Given the description of an element on the screen output the (x, y) to click on. 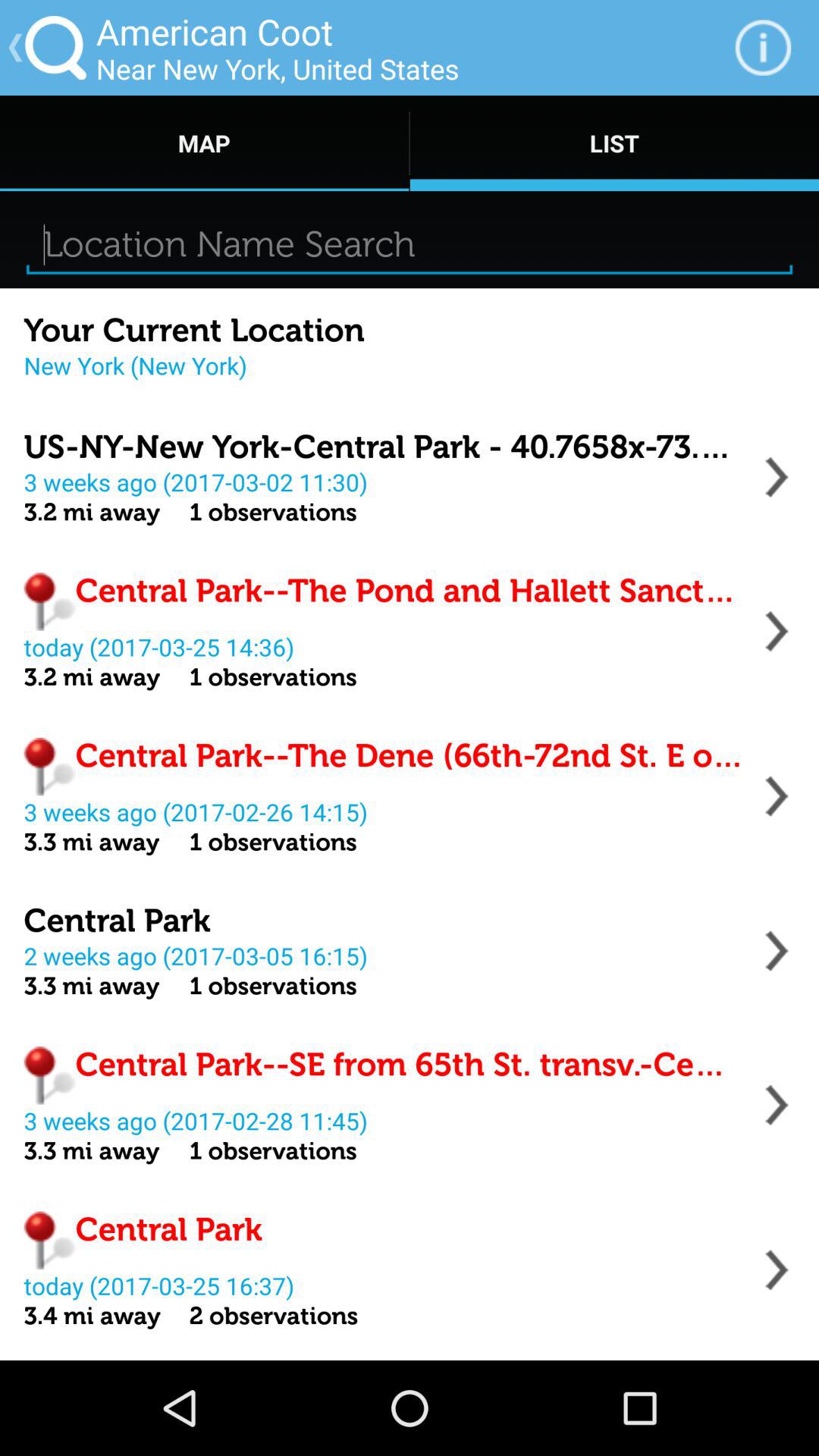
go to other page (776, 477)
